Given the description of an element on the screen output the (x, y) to click on. 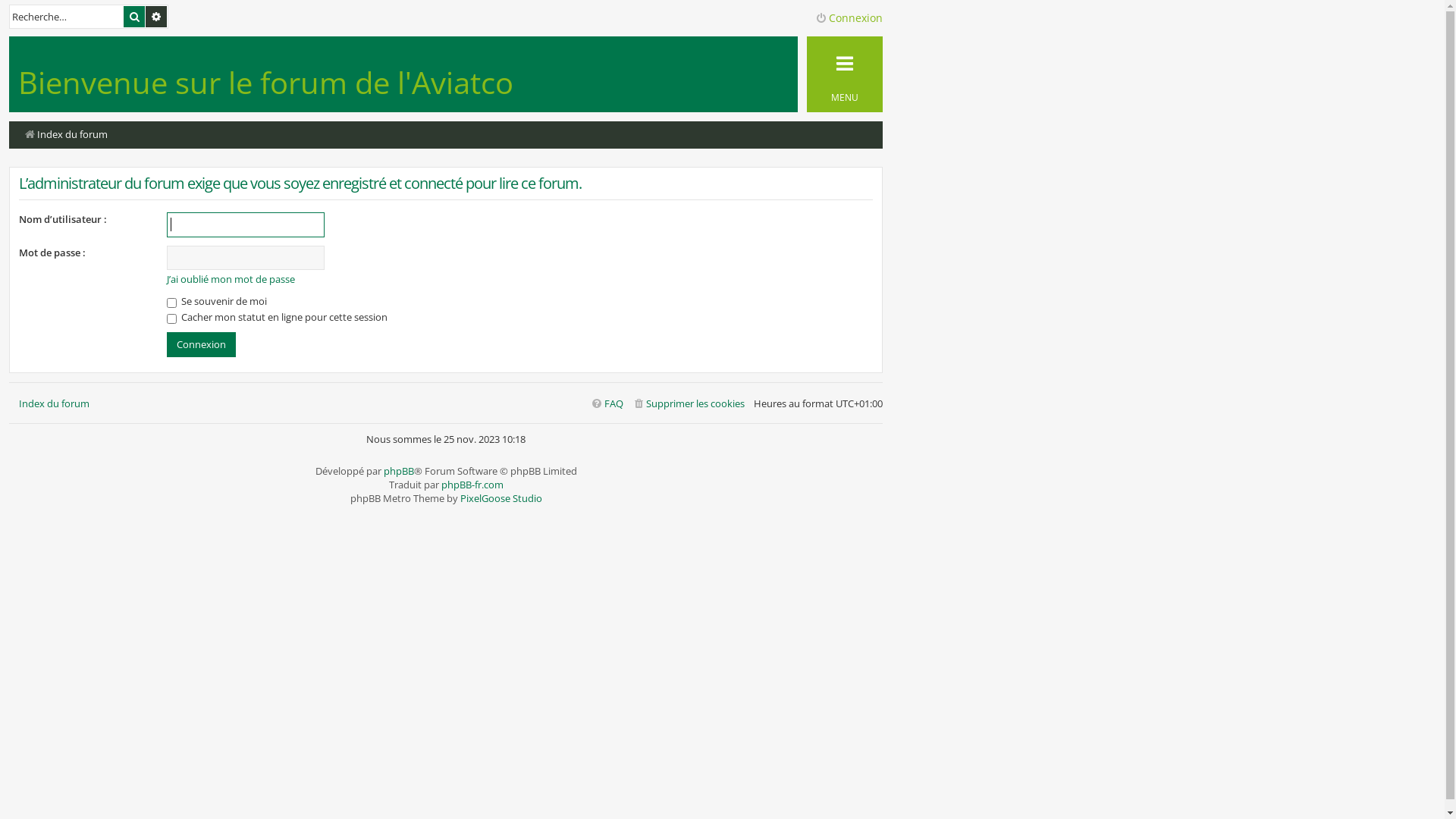
Connexion Element type: text (841, 18)
Rechercher Element type: text (133, 16)
Supprimer les cookies Element type: text (688, 403)
Index du forum Element type: text (65, 134)
phpBB-fr.com Element type: text (472, 484)
PixelGoose Studio Element type: text (500, 498)
Connexion Element type: text (200, 344)
Index du forum Element type: text (53, 403)
Bienvenue sur le forum de l'Aviatco Element type: text (265, 82)
FAQ Element type: text (606, 403)
phpBB Element type: text (398, 470)
MENU Element type: text (844, 74)
